Given the description of an element on the screen output the (x, y) to click on. 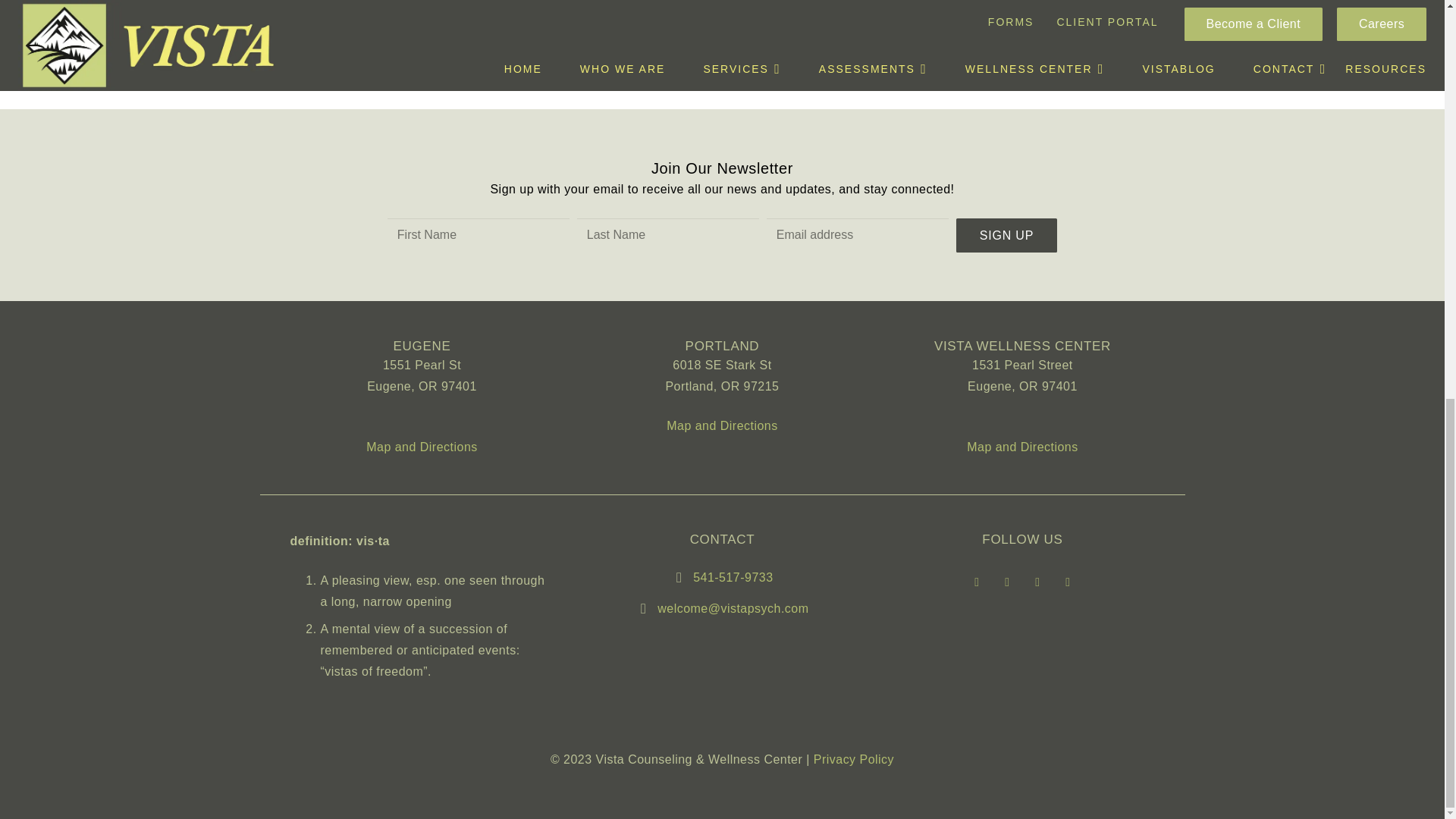
Sign up (1006, 235)
Back to top (1413, 73)
Twitter (1006, 582)
YouTube (1037, 582)
LinkedIn (1067, 582)
Facebook (975, 582)
